Given the description of an element on the screen output the (x, y) to click on. 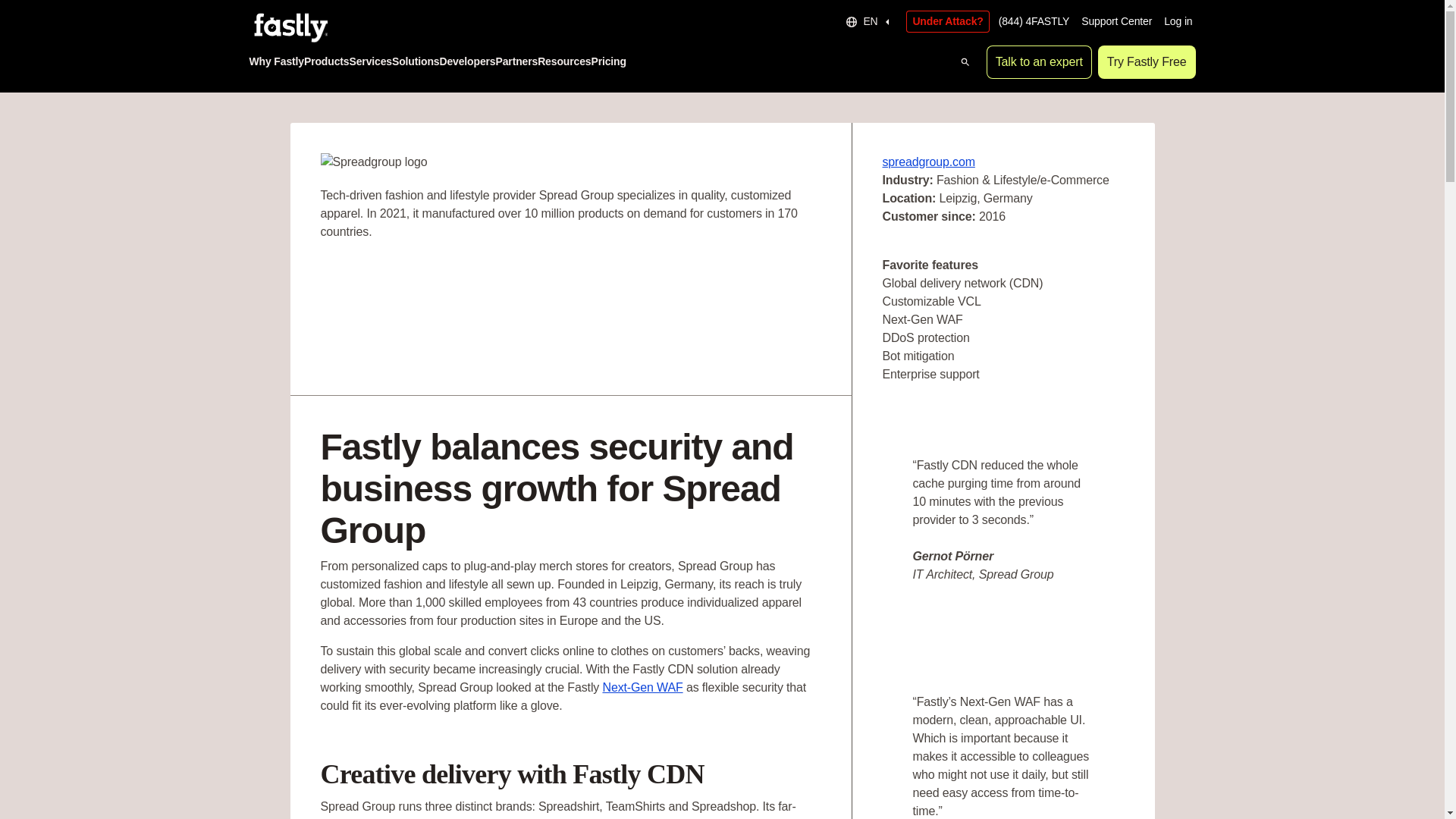
Under Attack? (946, 21)
Developers (467, 61)
Try Fastly Free (1146, 61)
EN (869, 22)
Log in (1177, 21)
Talk to an expert (1039, 61)
Next-Gen WAF (642, 686)
Support Center (1116, 21)
spreadgroup.com (928, 160)
Why Fastly (275, 61)
